Given the description of an element on the screen output the (x, y) to click on. 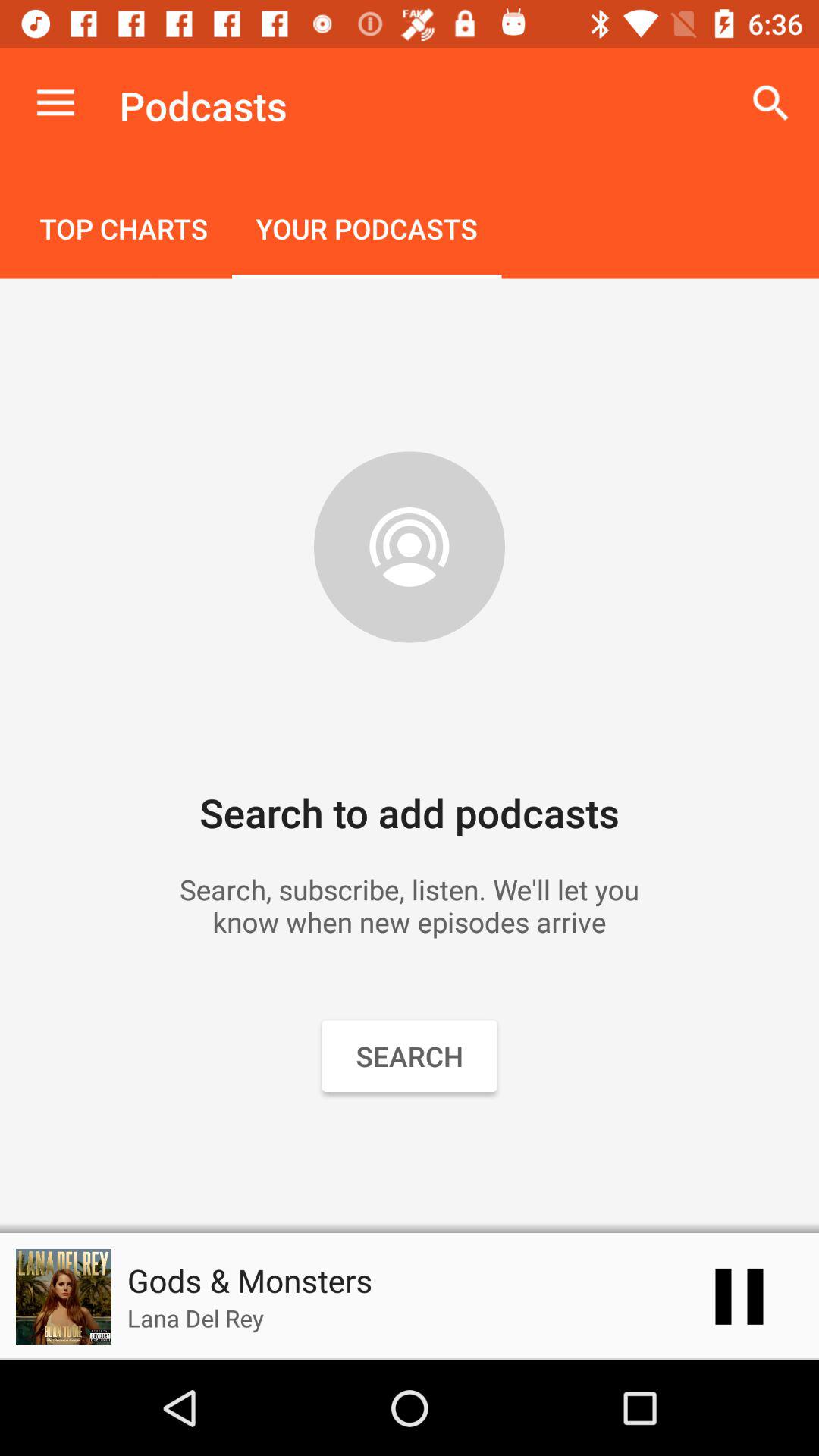
select the your podcasts item (366, 230)
